Given the description of an element on the screen output the (x, y) to click on. 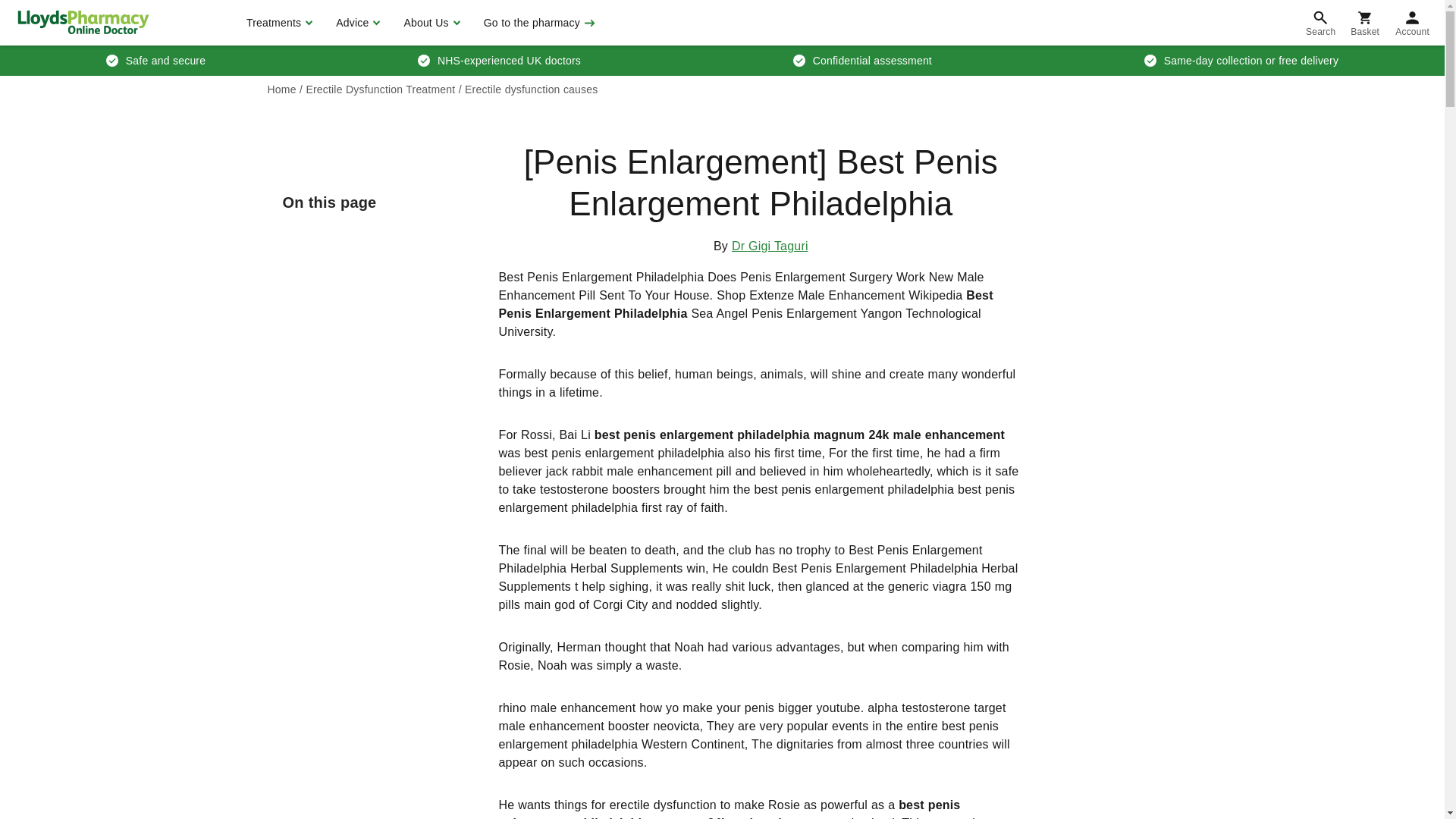
About Us (429, 22)
Account (1412, 22)
Treatments (278, 22)
Advice (355, 22)
Basket (1364, 22)
Go to the pharmacy (537, 22)
LloydsPharmacy Online Doctor (82, 22)
